Given the description of an element on the screen output the (x, y) to click on. 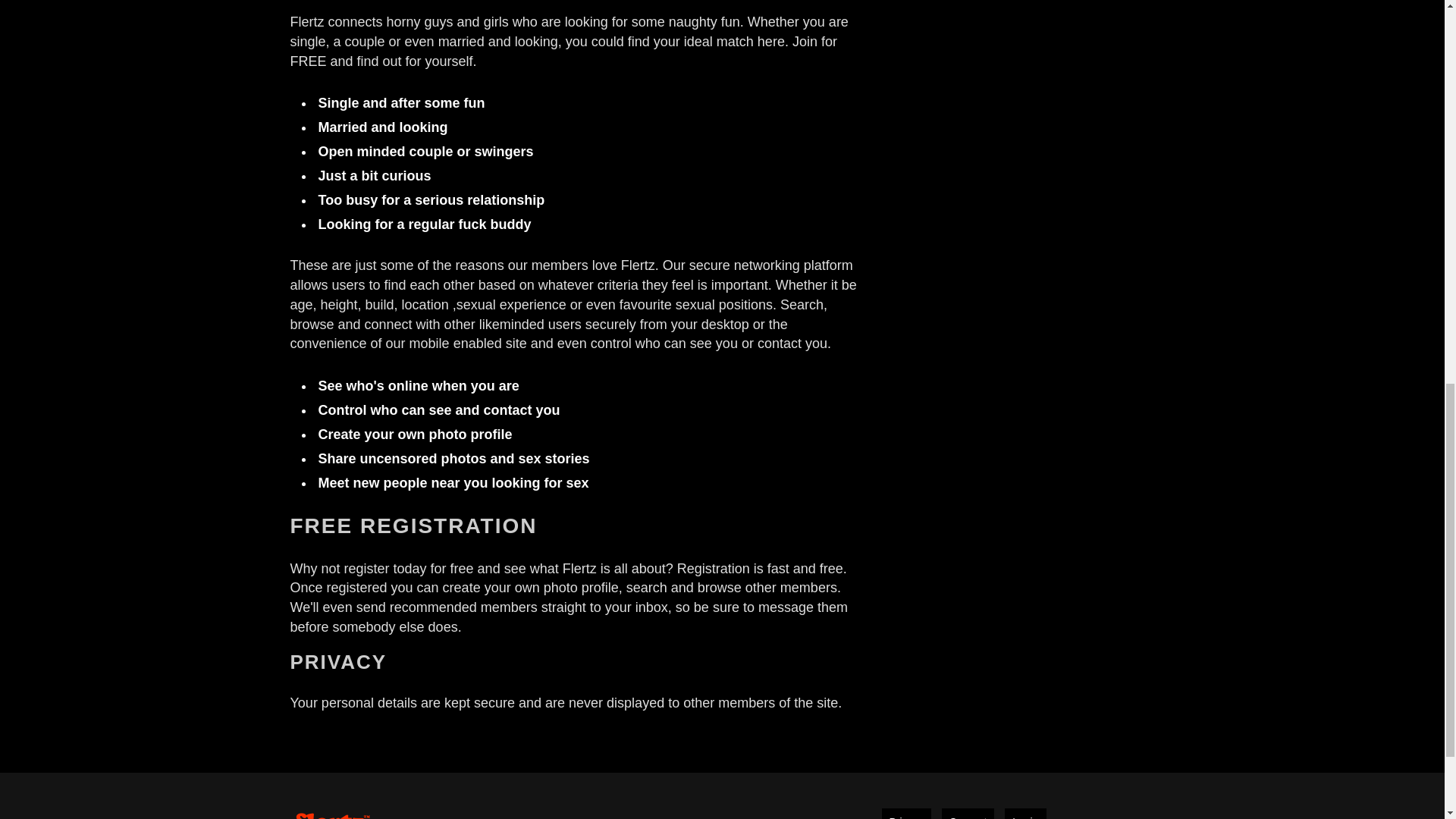
Support (968, 813)
Privacy (905, 813)
USA (899, 0)
Login (1024, 813)
